Given the description of an element on the screen output the (x, y) to click on. 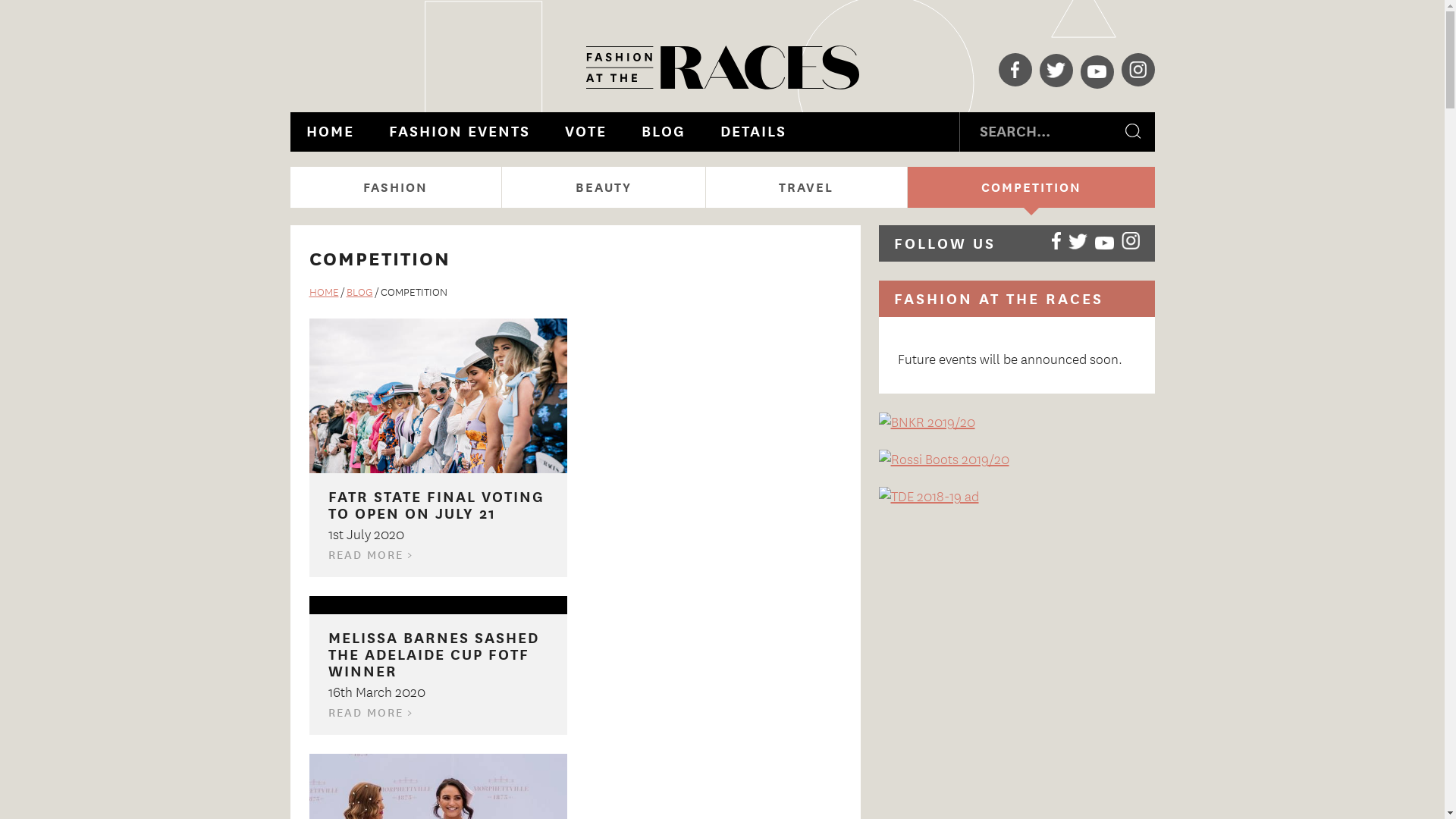
BEAUTY Element type: text (604, 186)
COMPETITION Element type: text (1030, 186)
HOME Element type: text (323, 290)
TRAVEL Element type: text (806, 186)
VOTE Element type: text (585, 131)
DETAILS Element type: text (752, 131)
BLOG Element type: text (662, 131)
HOME Element type: text (329, 131)
Search Element type: text (1133, 131)
FASHION EVENTS Element type: text (459, 131)
FASHION Element type: text (395, 186)
BLOG Element type: text (358, 290)
